Given the description of an element on the screen output the (x, y) to click on. 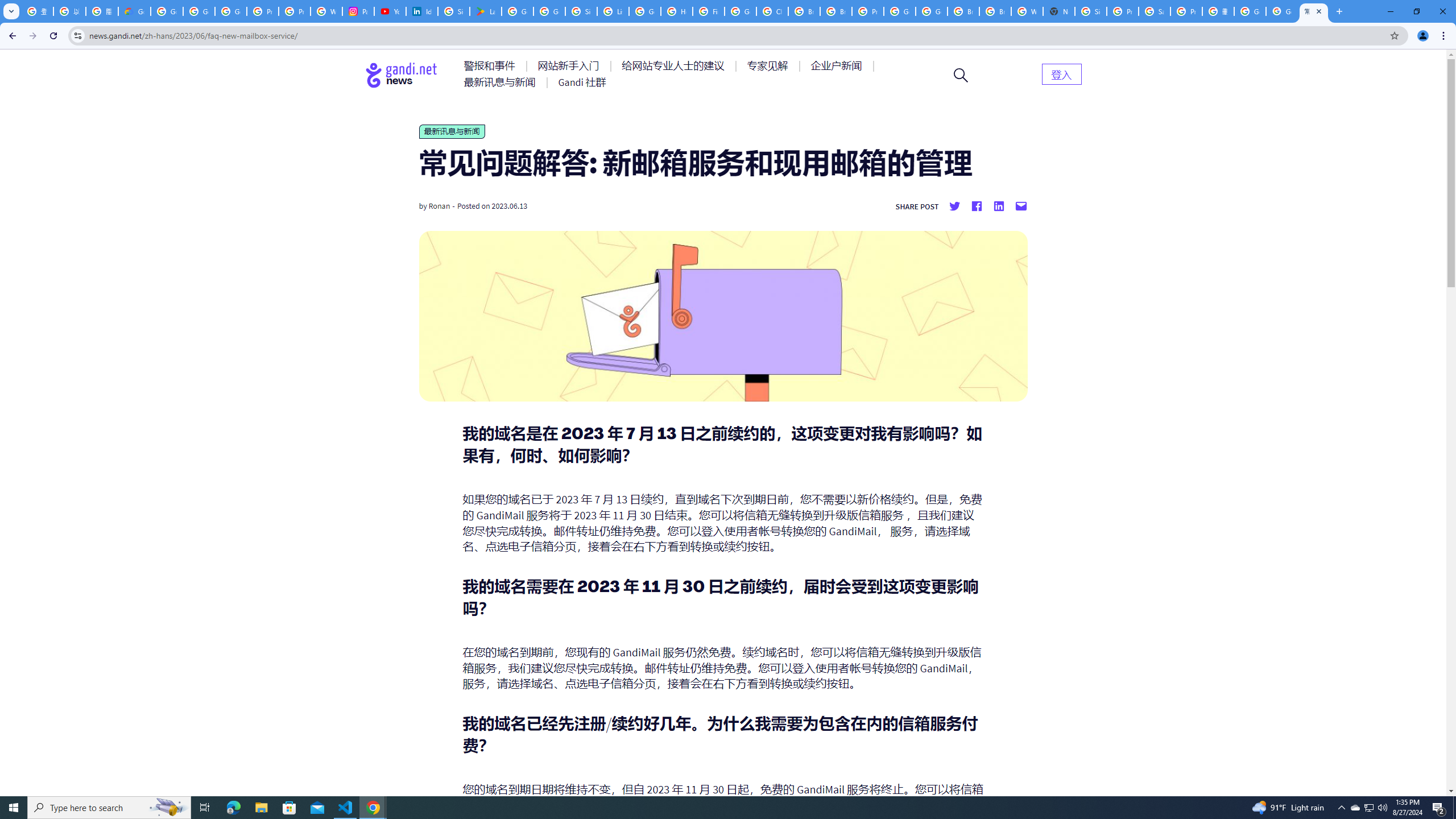
Browse Chrome as a guest - Computer - Google Chrome Help (804, 11)
Sign in - Google Accounts (453, 11)
Identity verification via Persona | LinkedIn Help (421, 11)
Browse Chrome as a guest - Computer - Google Chrome Help (963, 11)
AutomationID: menu-item-77762 (570, 65)
Google Cloud Platform (899, 11)
Share on Linkedin (998, 205)
